Given the description of an element on the screen output the (x, y) to click on. 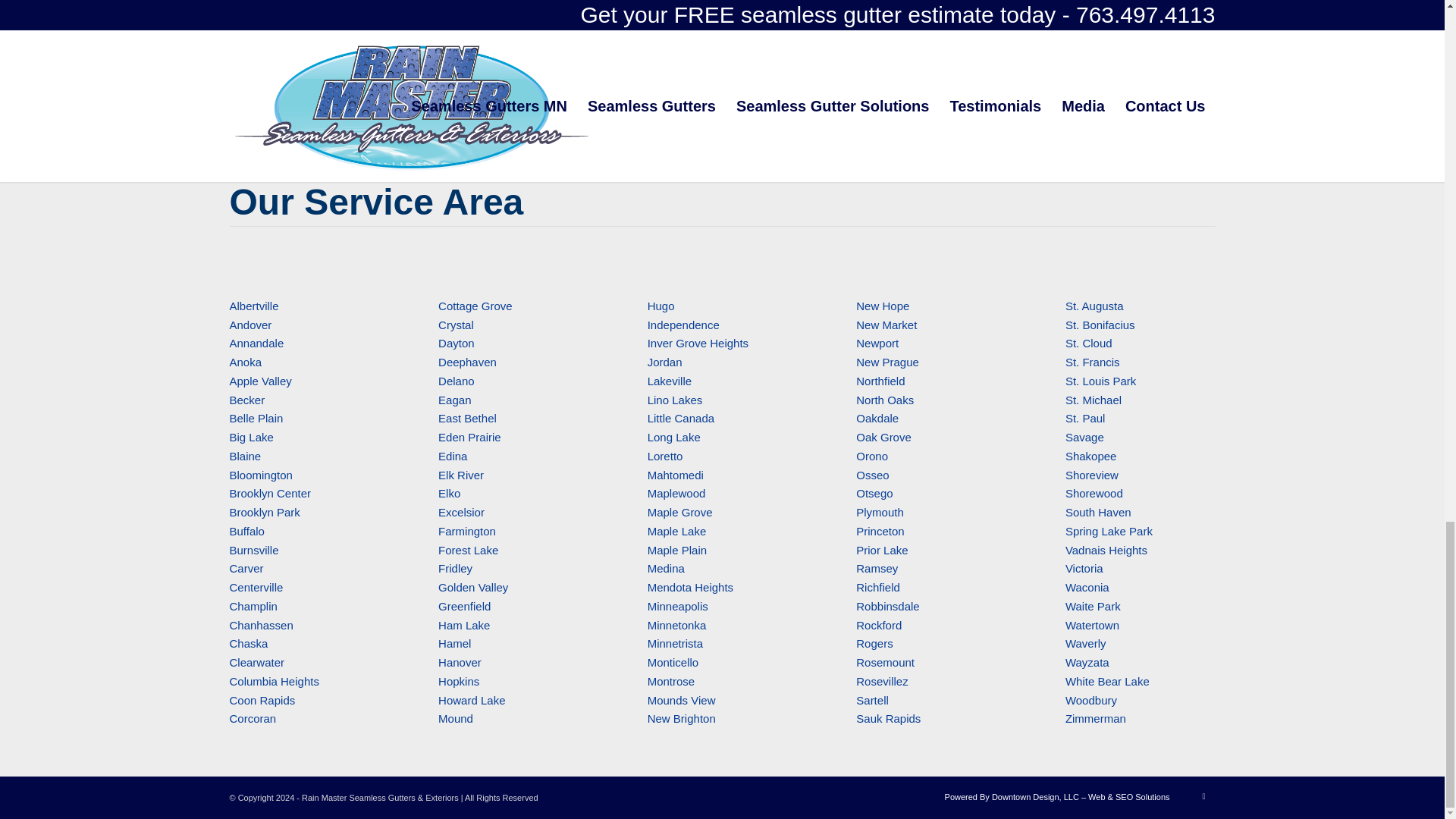
Bloomington (260, 474)
Apple Valley (259, 380)
Burnsville (253, 549)
Becker (246, 399)
Blaine (244, 455)
Brooklyn Center (269, 492)
Brooklyn Park (263, 512)
Belle Plain (255, 418)
Champlin (252, 605)
Anoka (245, 361)
